Given the description of an element on the screen output the (x, y) to click on. 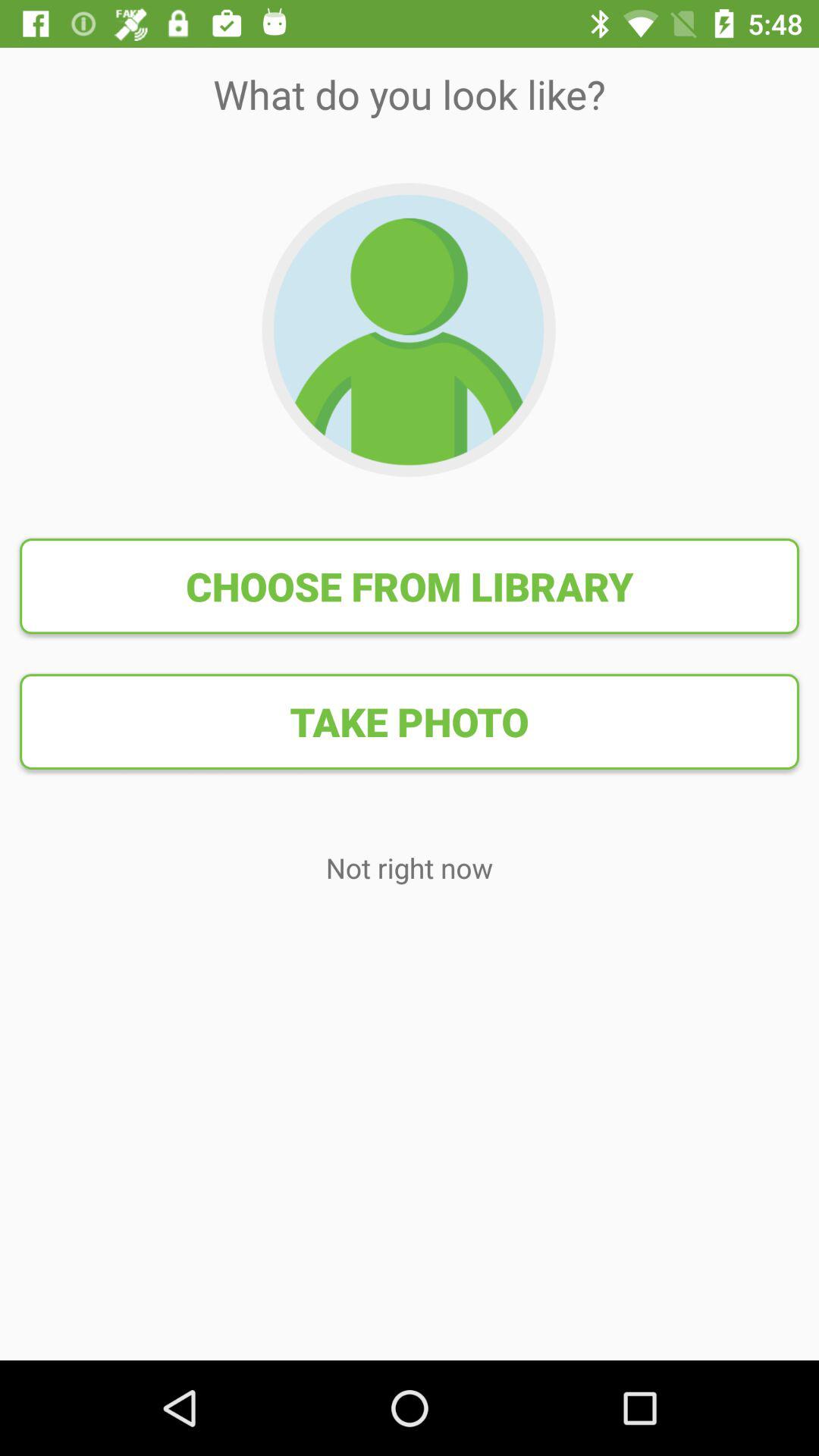
launch item above the take photo item (409, 586)
